Given the description of an element on the screen output the (x, y) to click on. 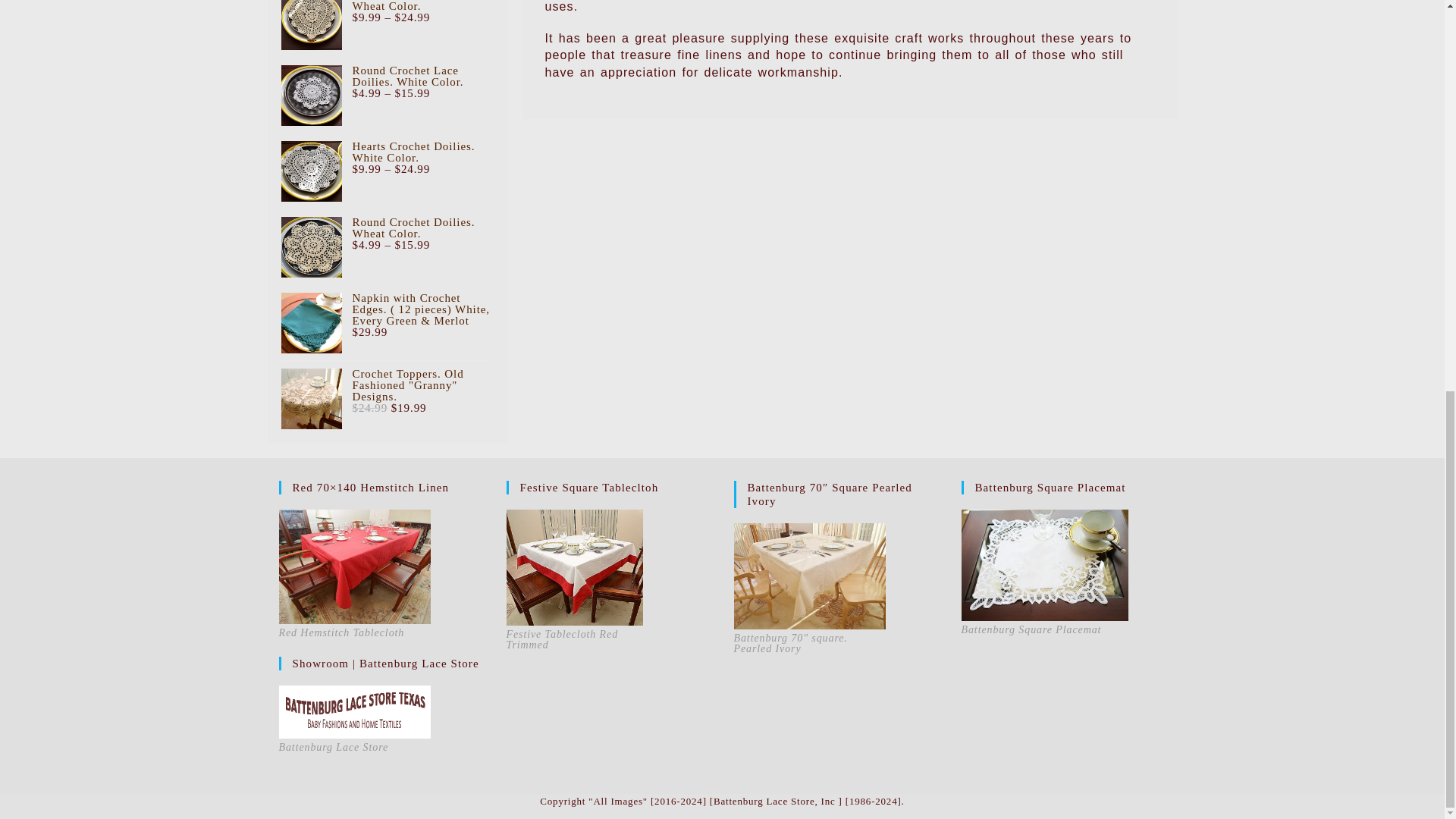
Battenburg Square Placemat (1044, 564)
Festive Red Tablecloth (354, 566)
Battenburg 70" Square Pearled Ivory (809, 576)
Festive Square Tablecltoh (574, 567)
